Given the description of an element on the screen output the (x, y) to click on. 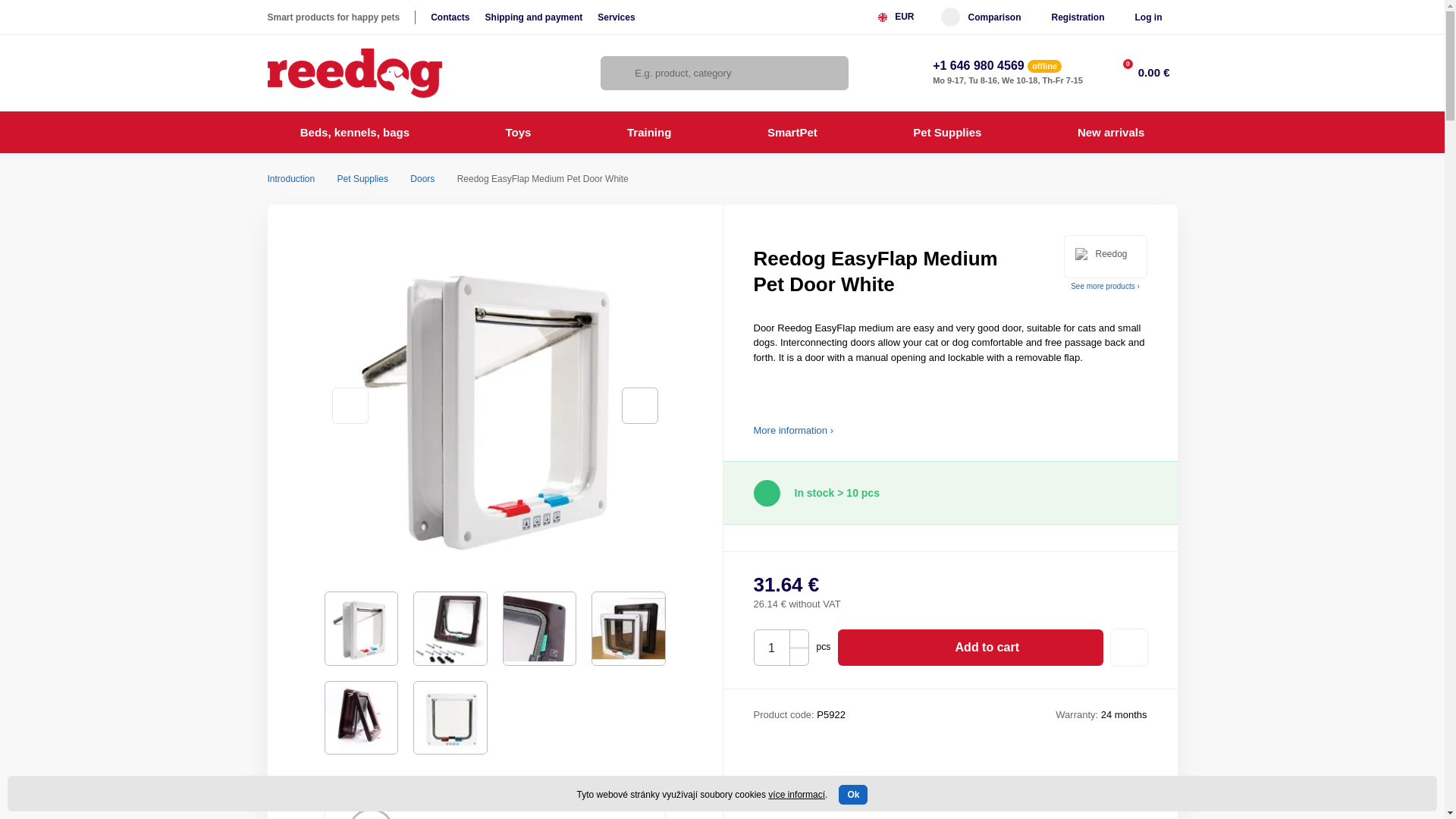
Registration (1077, 16)
Go to the home page (353, 72)
Doors (421, 178)
Contacts (449, 17)
EUR (901, 16)
Services (615, 17)
Beds, kennels, bags (354, 132)
Log in (1147, 16)
Comparison (980, 16)
Shipping and payment (533, 17)
1 (771, 647)
Add to Compare (1128, 647)
Pet Supplies (362, 178)
